Given the description of an element on the screen output the (x, y) to click on. 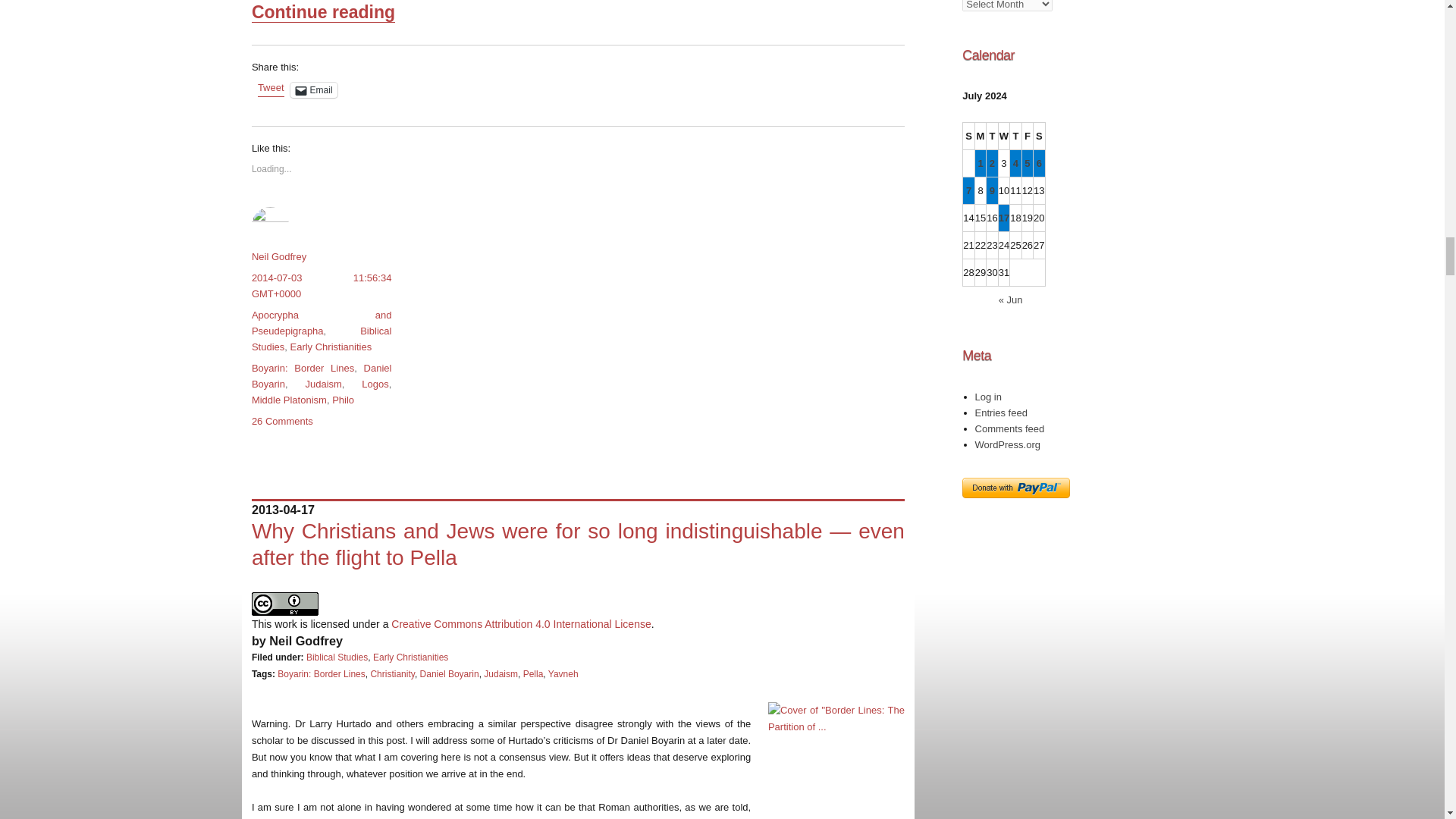
Click to email a link to a friend (313, 89)
Cover of "Border Lines: The Partition of ... (836, 760)
